Given the description of an element on the screen output the (x, y) to click on. 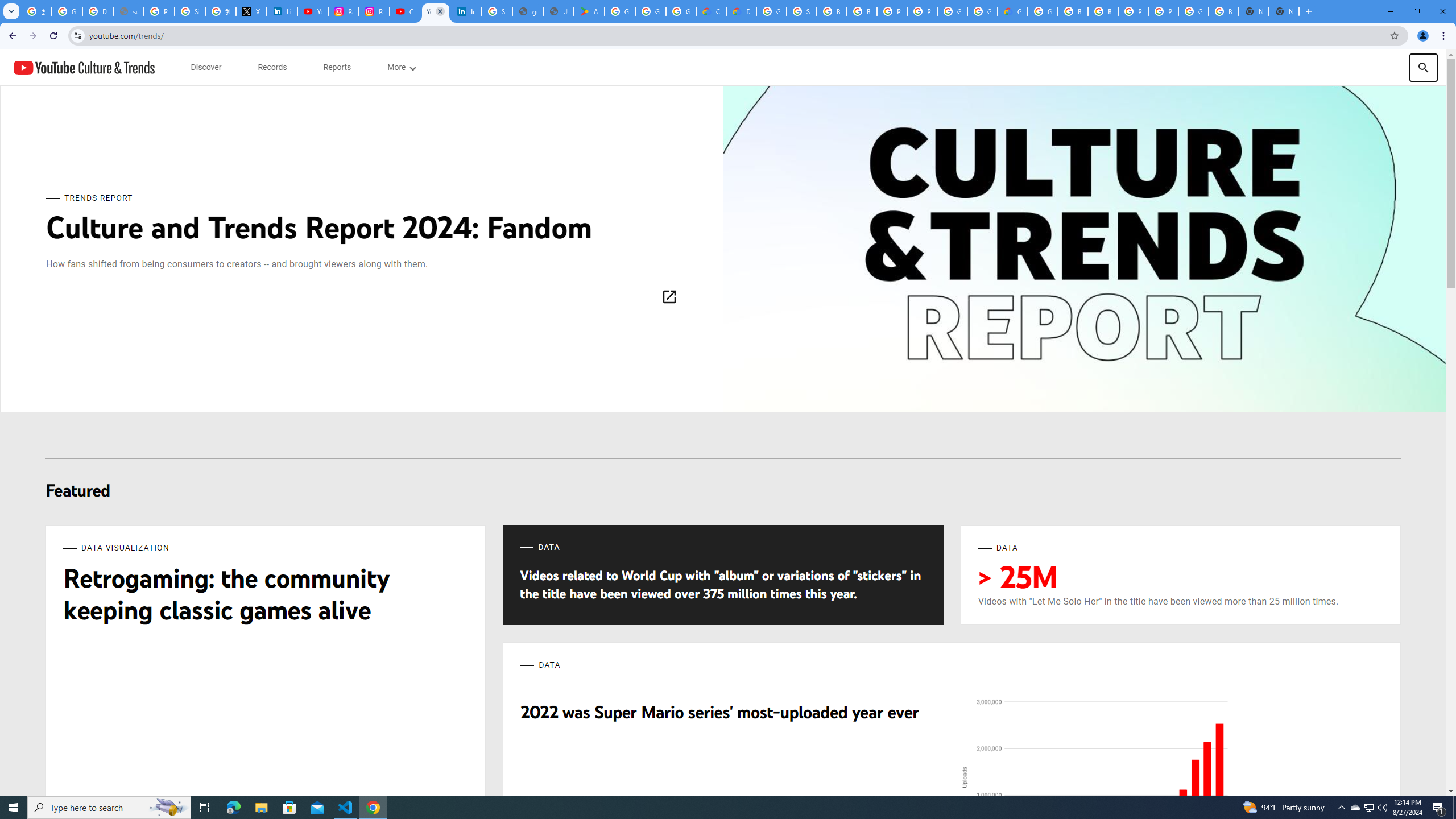
Browse Chrome as a guest - Computer - Google Chrome Help (830, 11)
Google Cloud Estimate Summary (1012, 11)
subnav-Reports menupopup (336, 67)
Browse Chrome as a guest - Computer - Google Chrome Help (1072, 11)
Browse Chrome as a guest - Computer - Google Chrome Help (1102, 11)
